Given the description of an element on the screen output the (x, y) to click on. 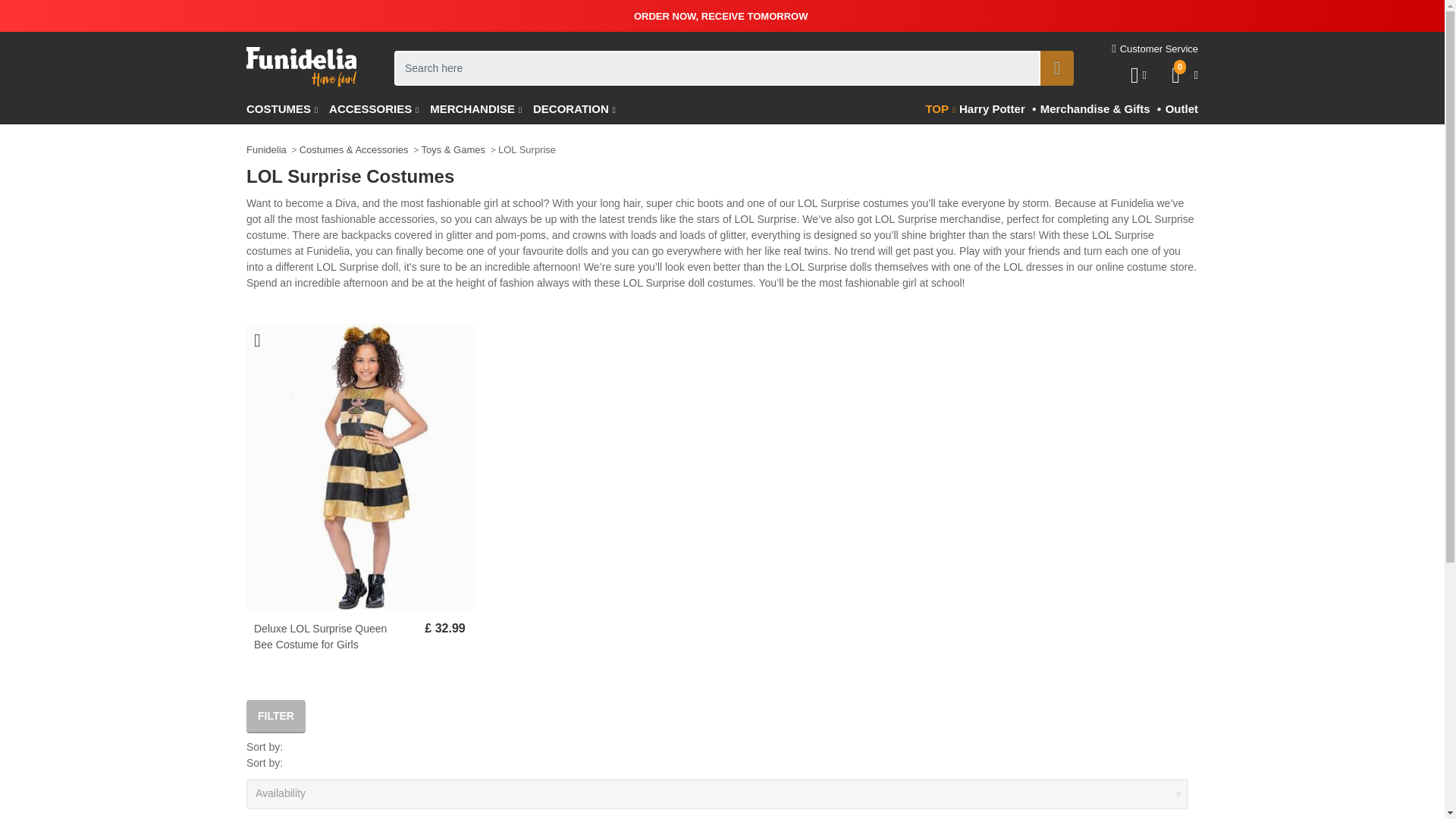
Costumes (287, 109)
Customer Service (1155, 48)
0 (1177, 75)
Harry Potter (990, 109)
TOP (939, 109)
Outlet (1179, 109)
COSTUMES (287, 109)
Customer Service (1155, 48)
Go to Home (301, 66)
